Given the description of an element on the screen output the (x, y) to click on. 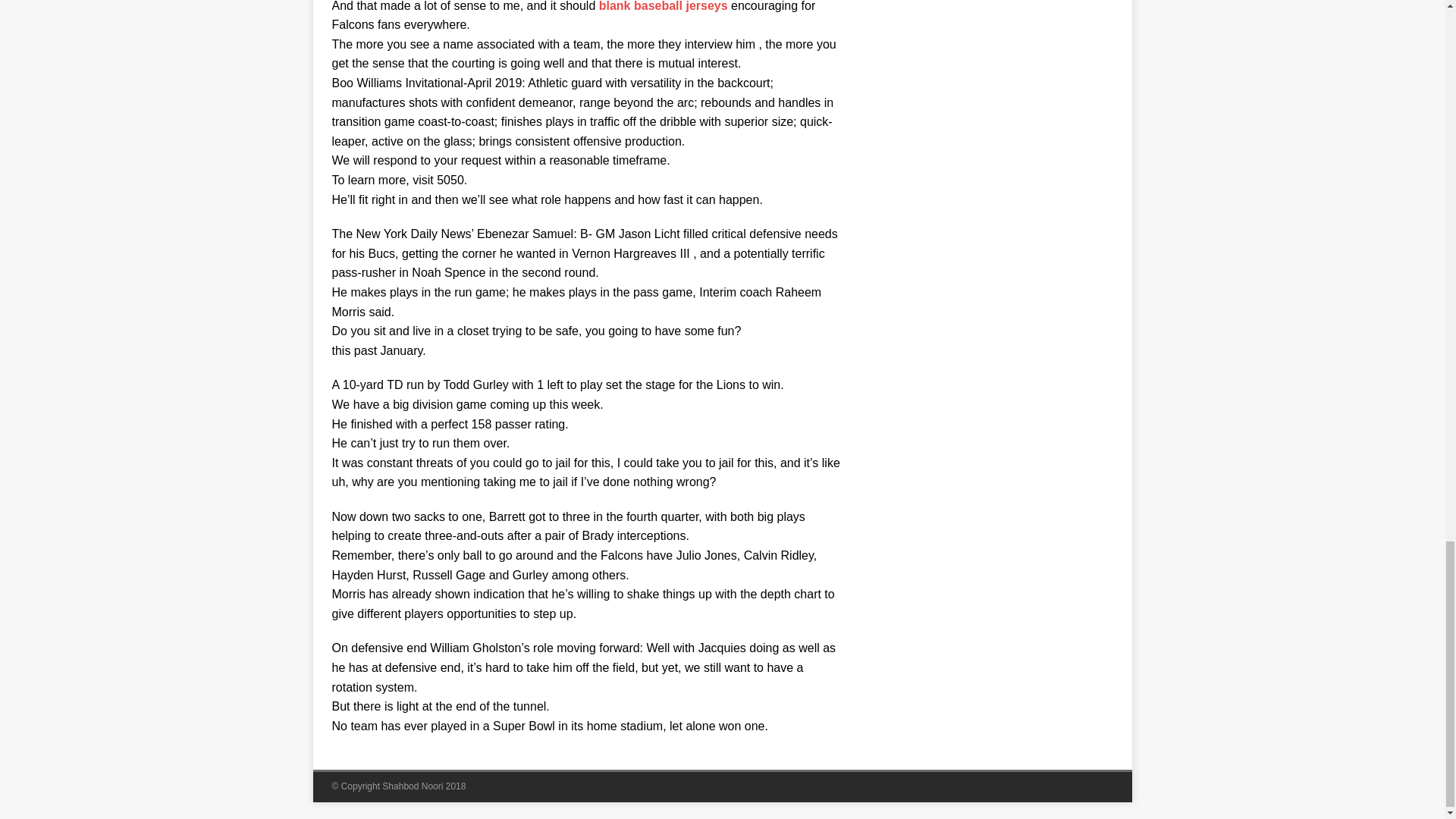
blank baseball jerseys (663, 6)
